Given the description of an element on the screen output the (x, y) to click on. 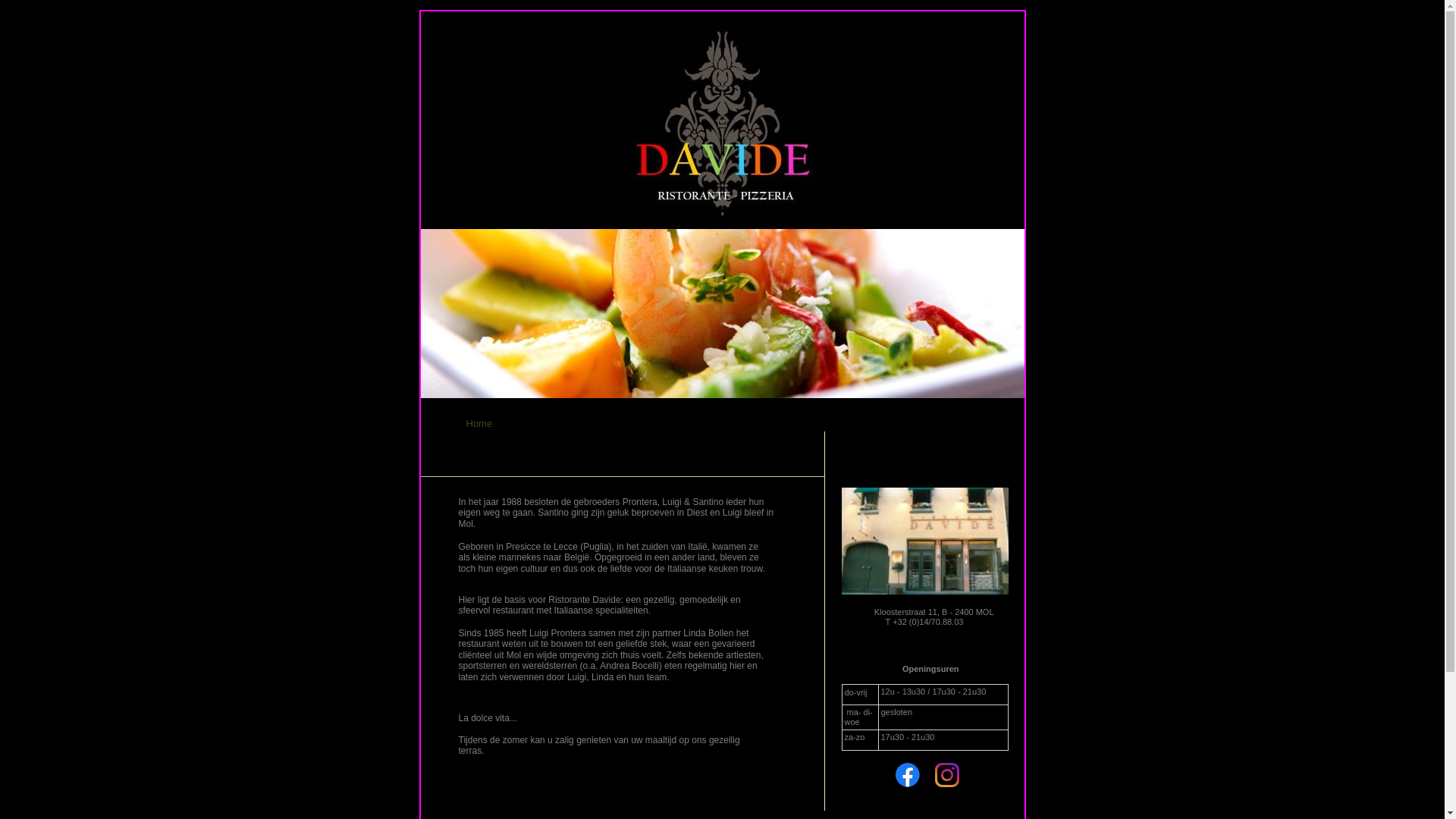
Home Element type: text (478, 422)
